Given the description of an element on the screen output the (x, y) to click on. 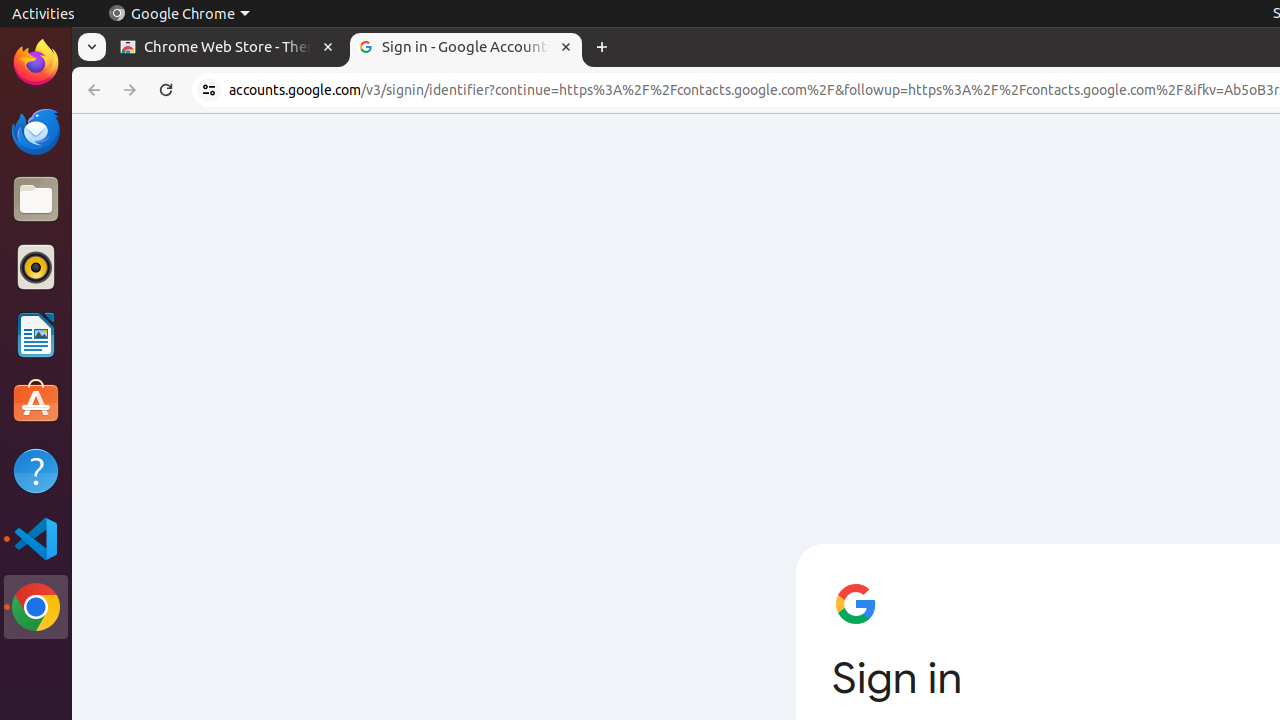
Visual Studio Code Element type: push-button (36, 538)
Ubuntu Software Element type: push-button (36, 402)
Files Element type: push-button (36, 199)
LibreOffice Writer Element type: push-button (36, 334)
Back Element type: push-button (91, 90)
